Given the description of an element on the screen output the (x, y) to click on. 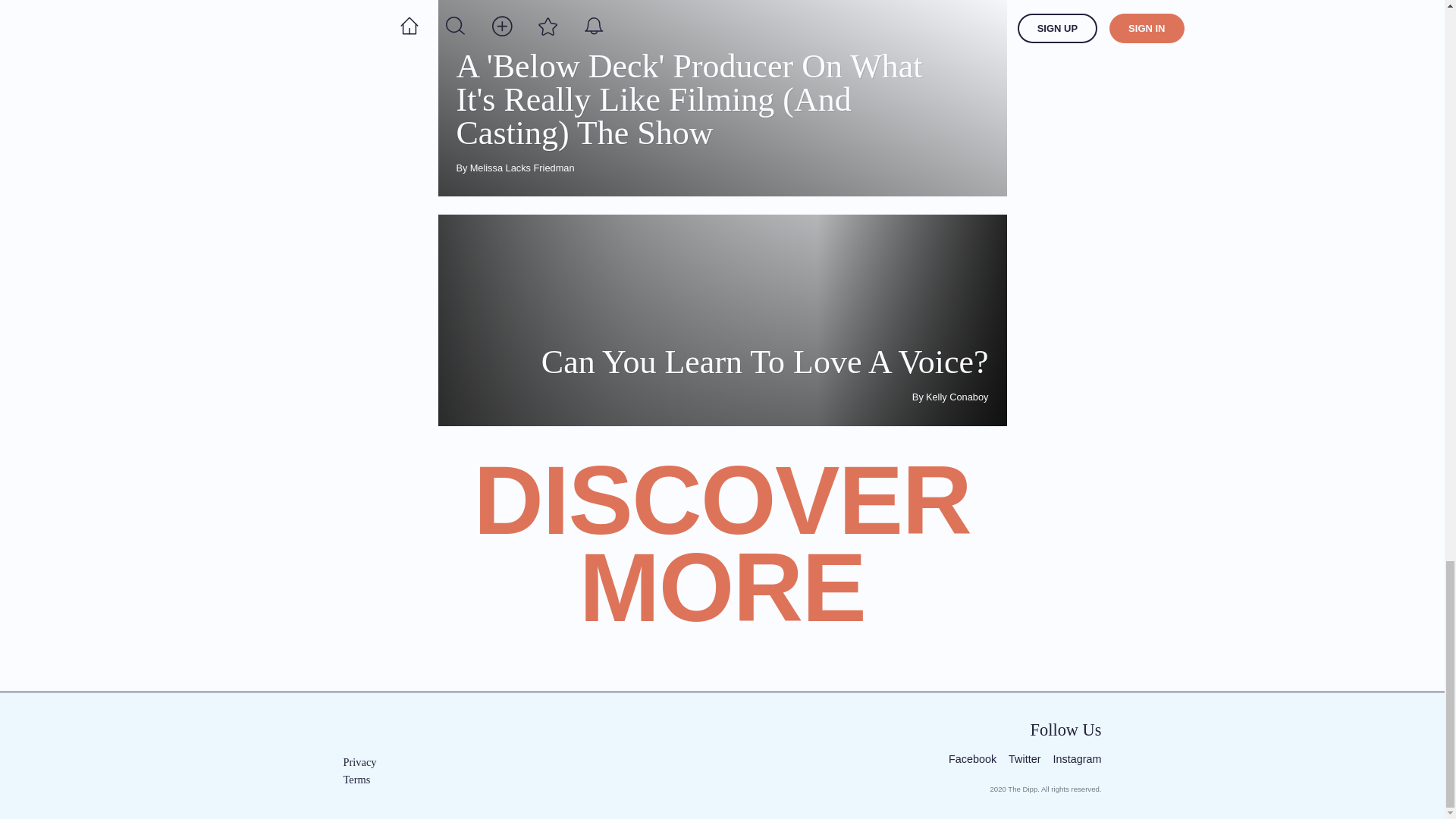
Terms (722, 319)
Dipp (377, 779)
Privacy (384, 732)
Facebook (377, 762)
Instagram (972, 759)
DISCOVER MORE (1076, 759)
Twitter (722, 561)
